Given the description of an element on the screen output the (x, y) to click on. 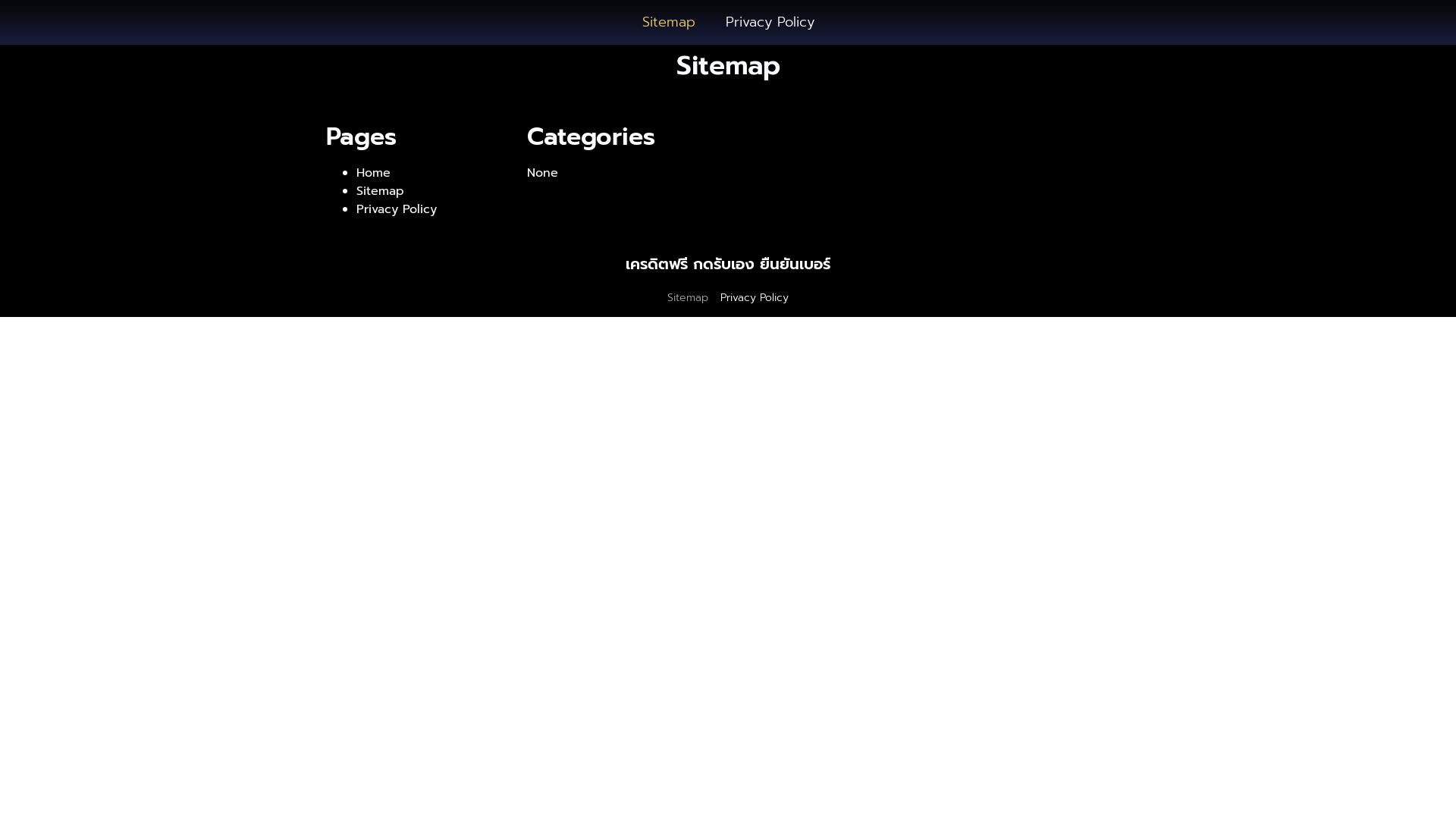
Sitemap Element type: text (667, 22)
Sitemap Element type: text (687, 297)
Privacy Policy Element type: text (754, 297)
Home Element type: text (373, 172)
Sitemap Element type: text (380, 191)
Privacy Policy Element type: text (396, 209)
Privacy Policy Element type: text (768, 22)
